Given the description of an element on the screen output the (x, y) to click on. 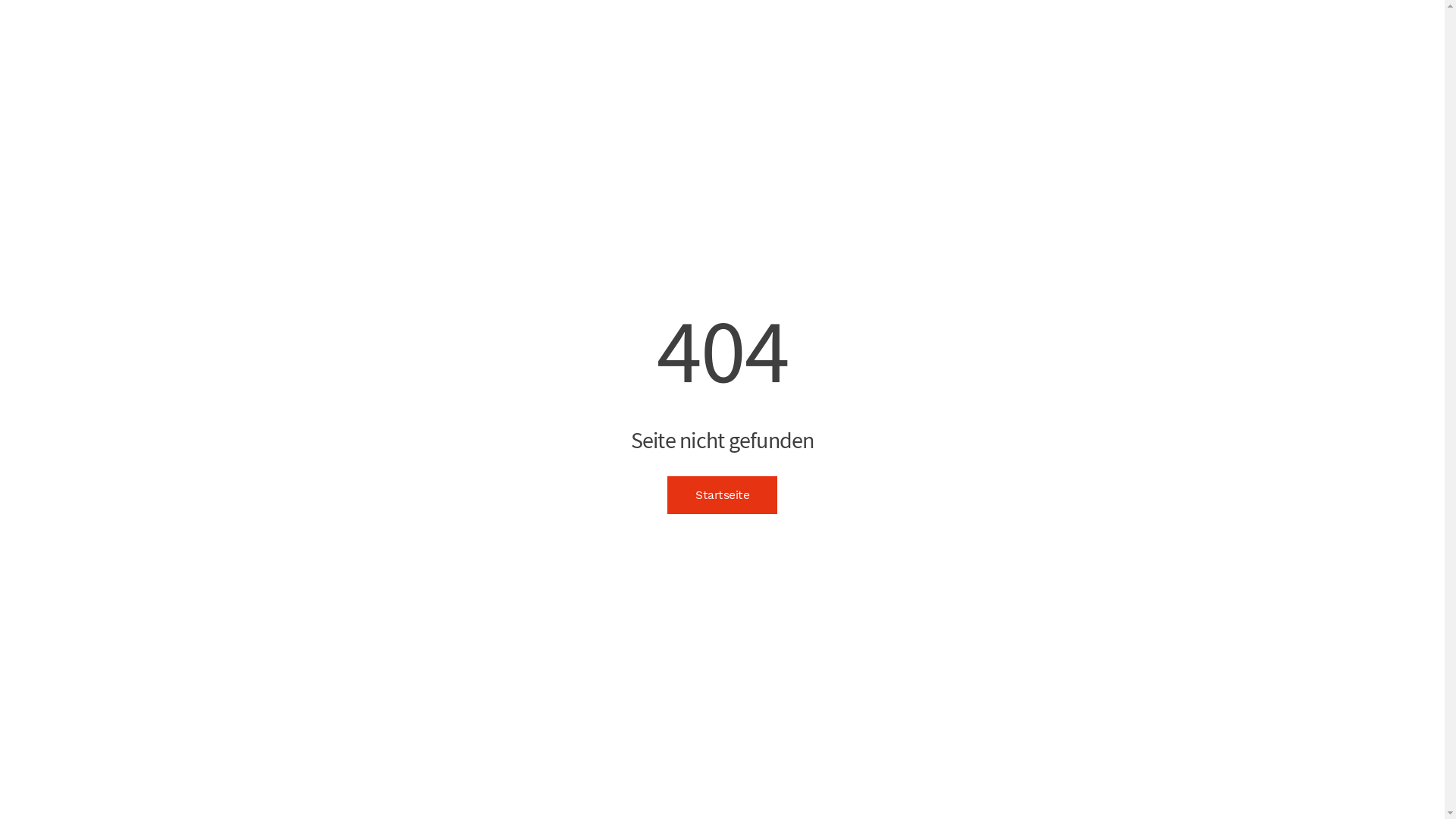
Startseite Element type: text (722, 495)
